Given the description of an element on the screen output the (x, y) to click on. 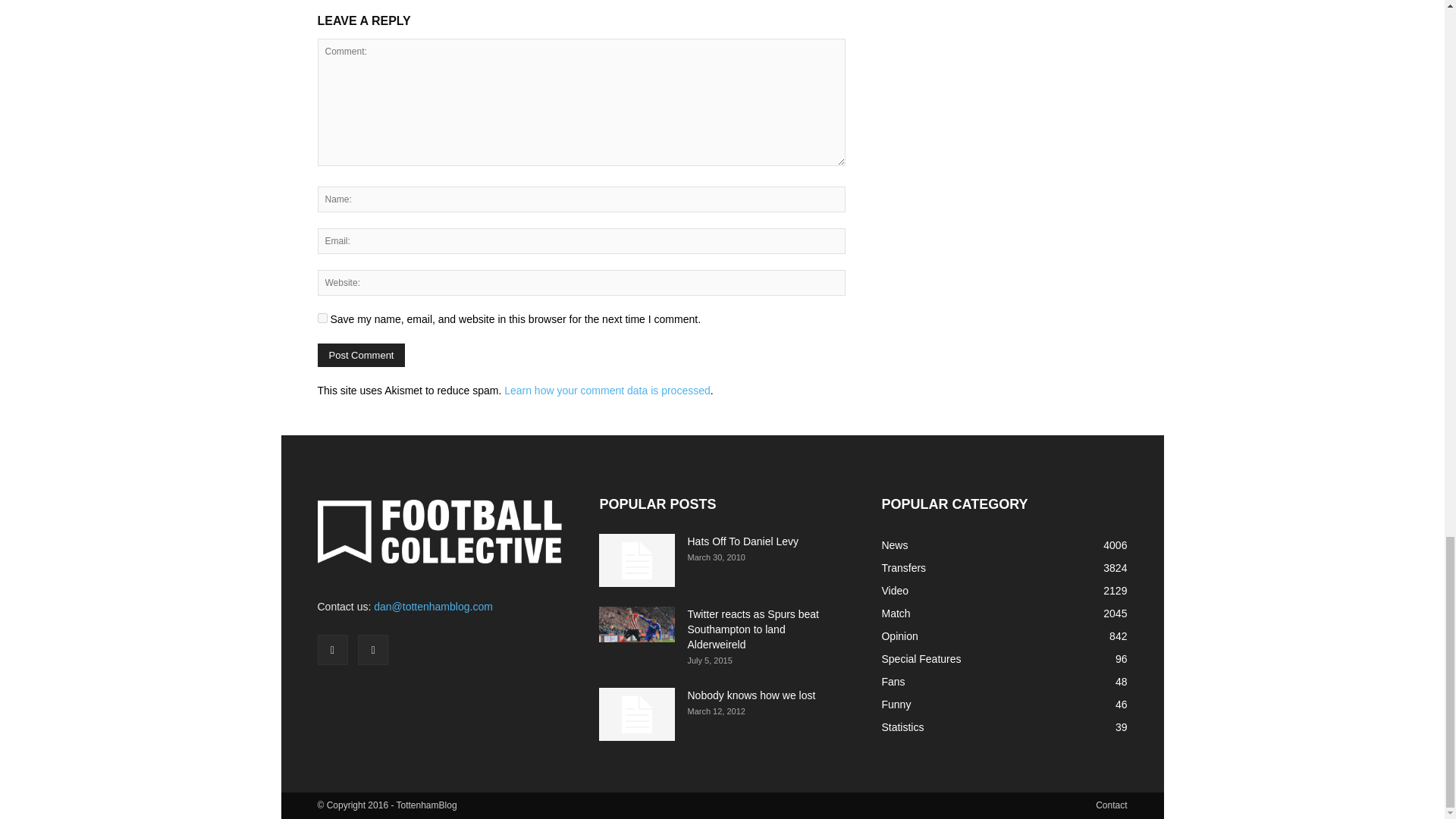
yes (321, 317)
Post Comment (360, 354)
